Given the description of an element on the screen output the (x, y) to click on. 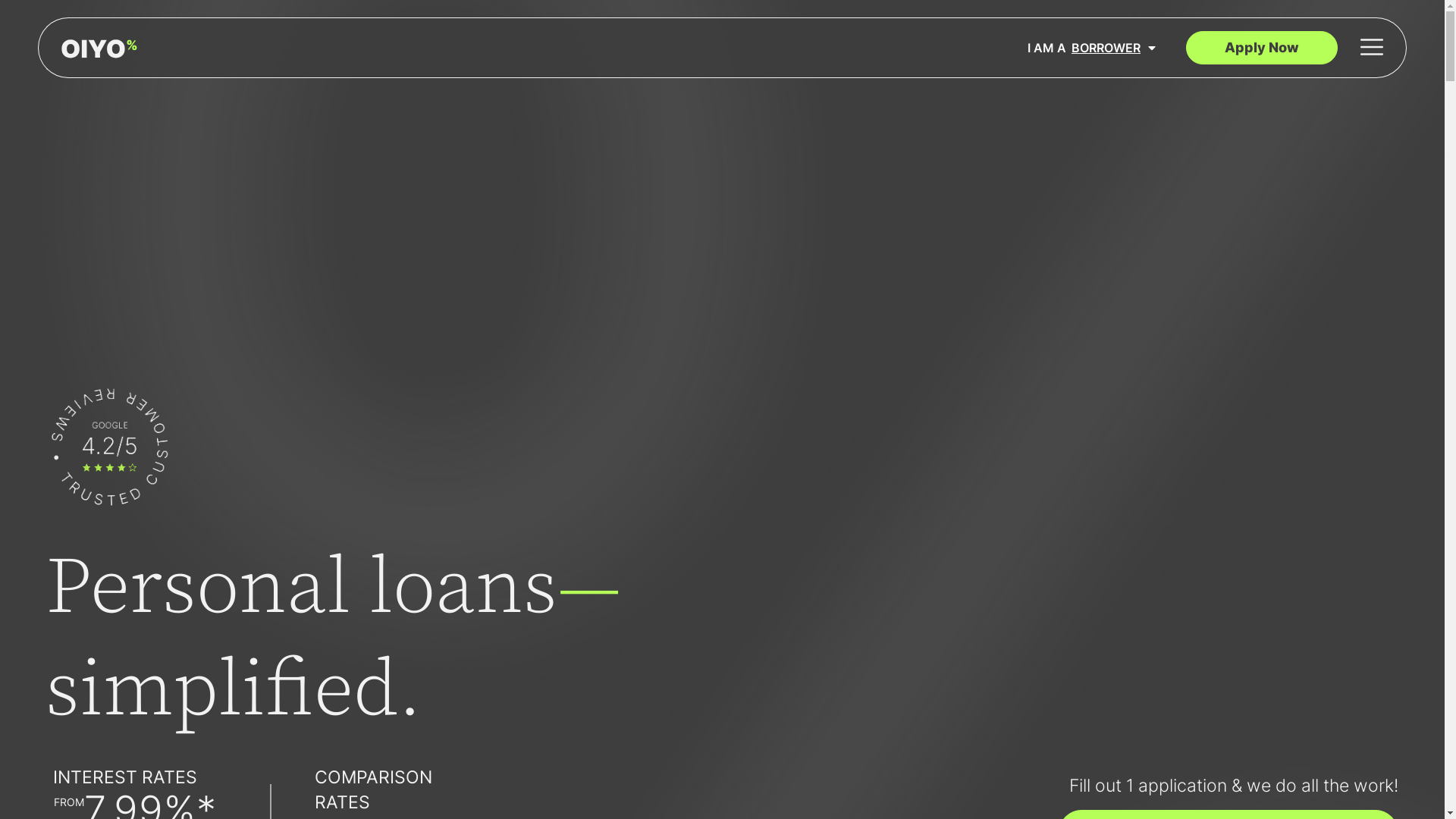
Apply Now Element type: text (1261, 47)
I AM A
BORROWER Element type: text (1091, 47)
